Given the description of an element on the screen output the (x, y) to click on. 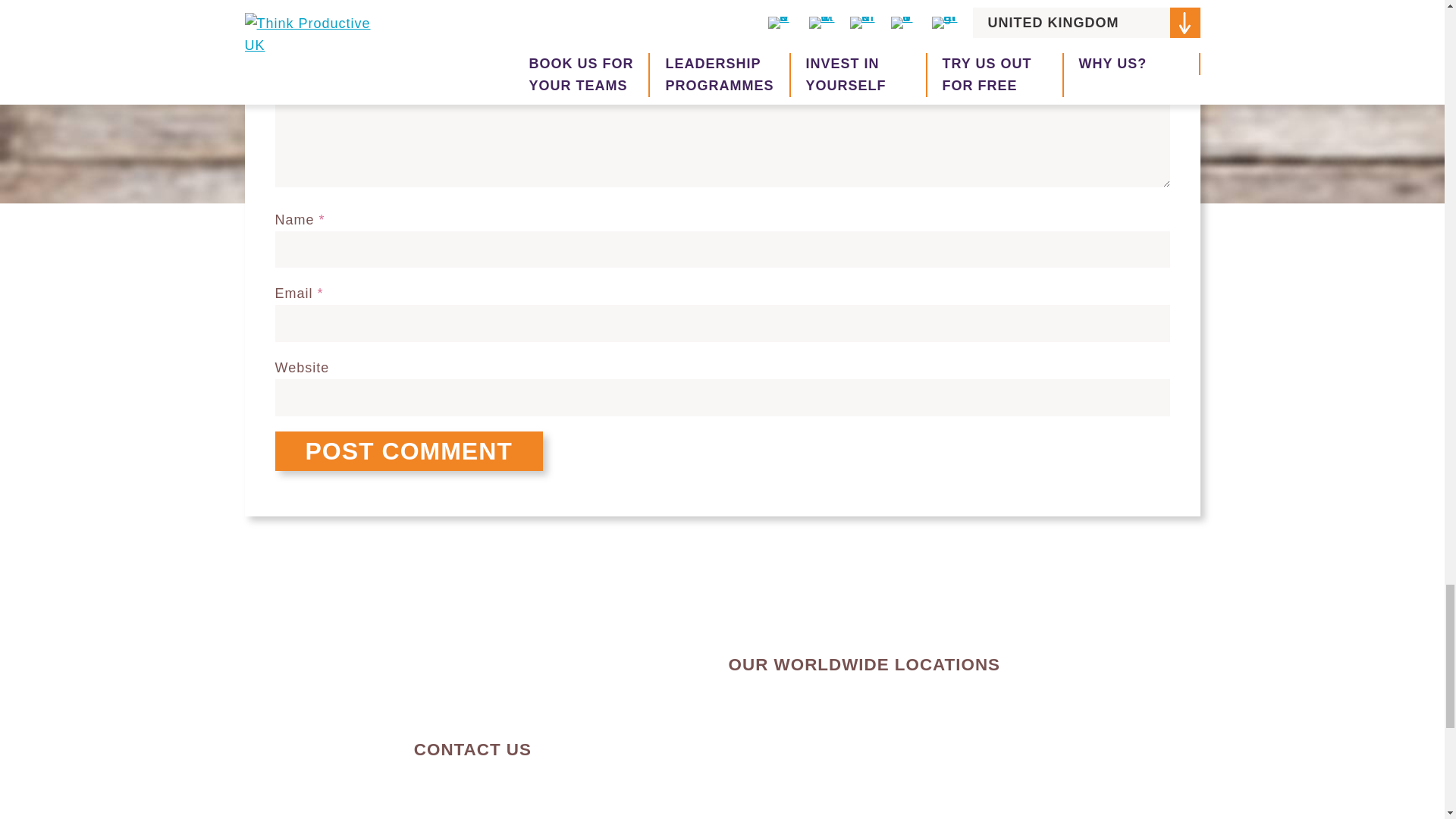
Post Comment (408, 450)
